Given the description of an element on the screen output the (x, y) to click on. 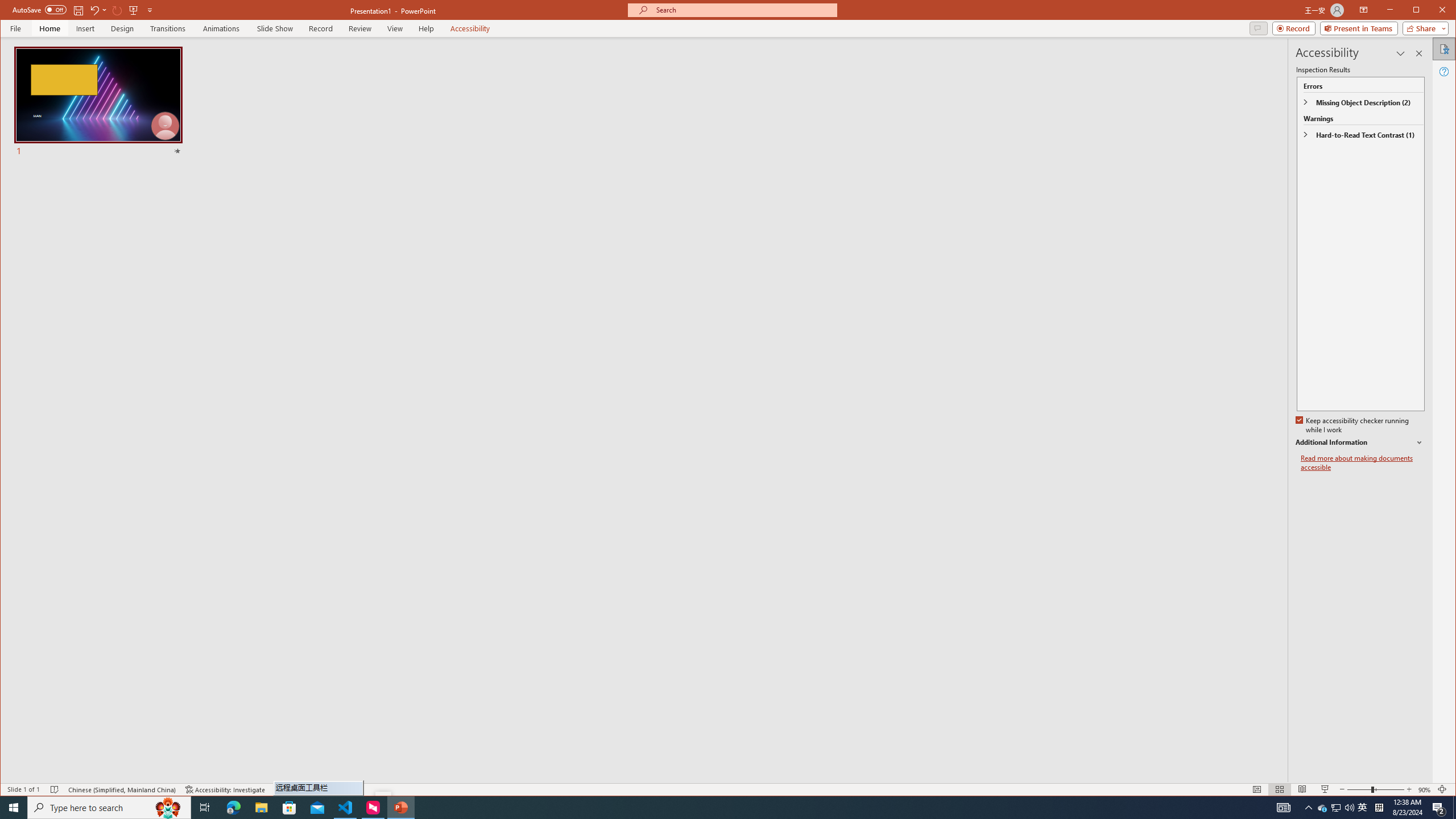
Maximize (1432, 11)
